Given the description of an element on the screen output the (x, y) to click on. 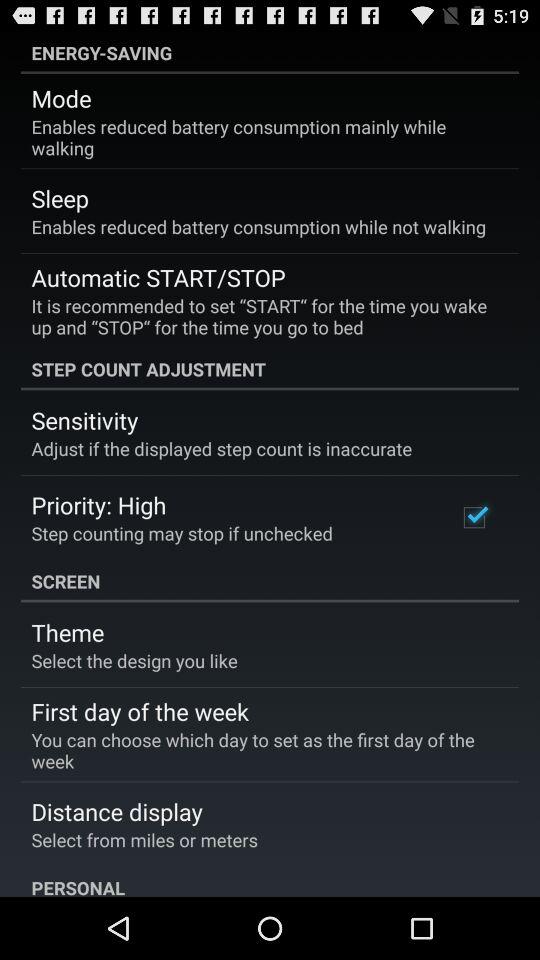
tap icon above screen icon (474, 517)
